Given the description of an element on the screen output the (x, y) to click on. 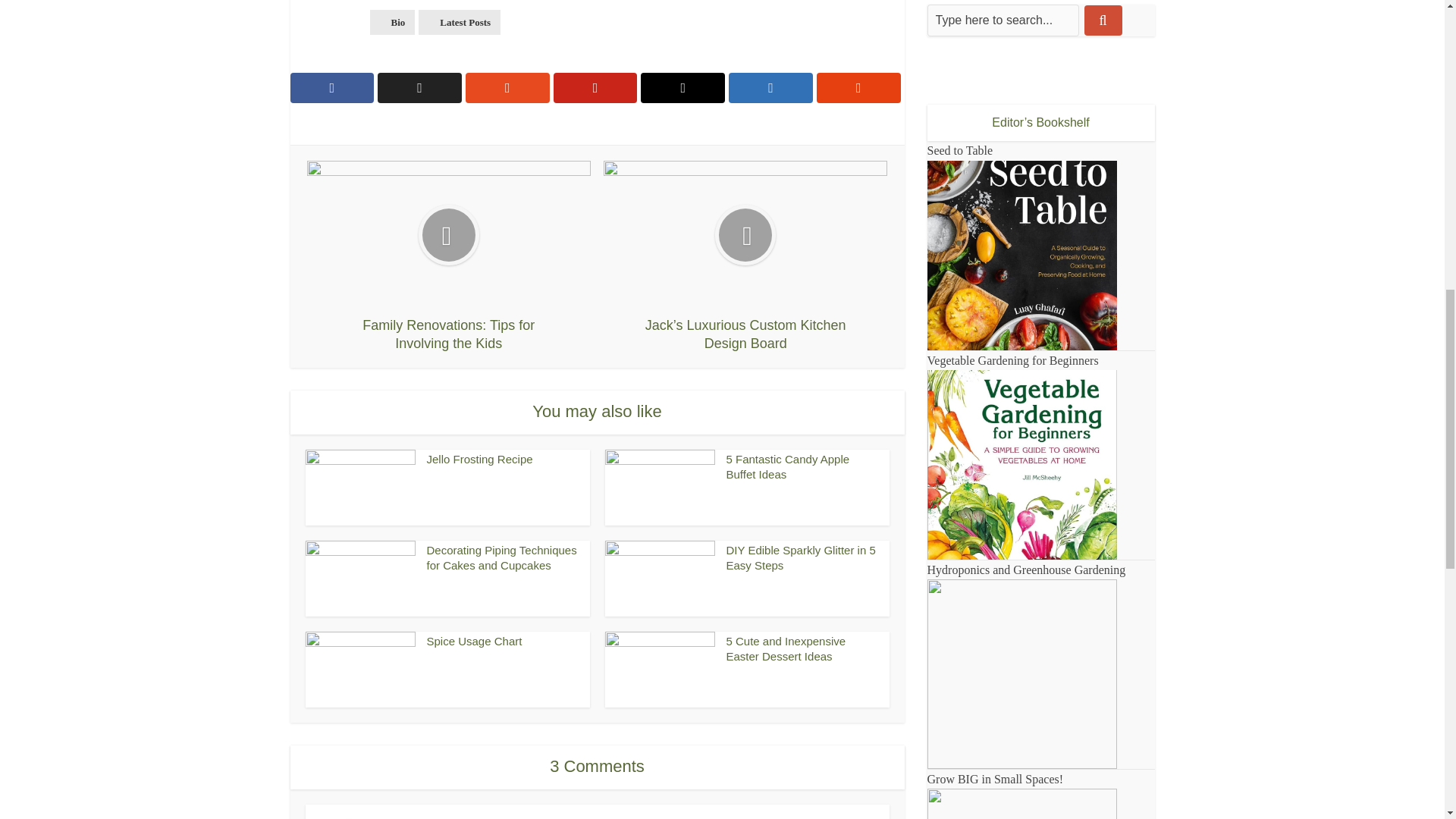
Type here to search... (1002, 20)
Jello Frosting Recipe (479, 459)
5 Fantastic Candy Apple Buffet Ideas (788, 466)
Type here to search... (1002, 20)
